Given the description of an element on the screen output the (x, y) to click on. 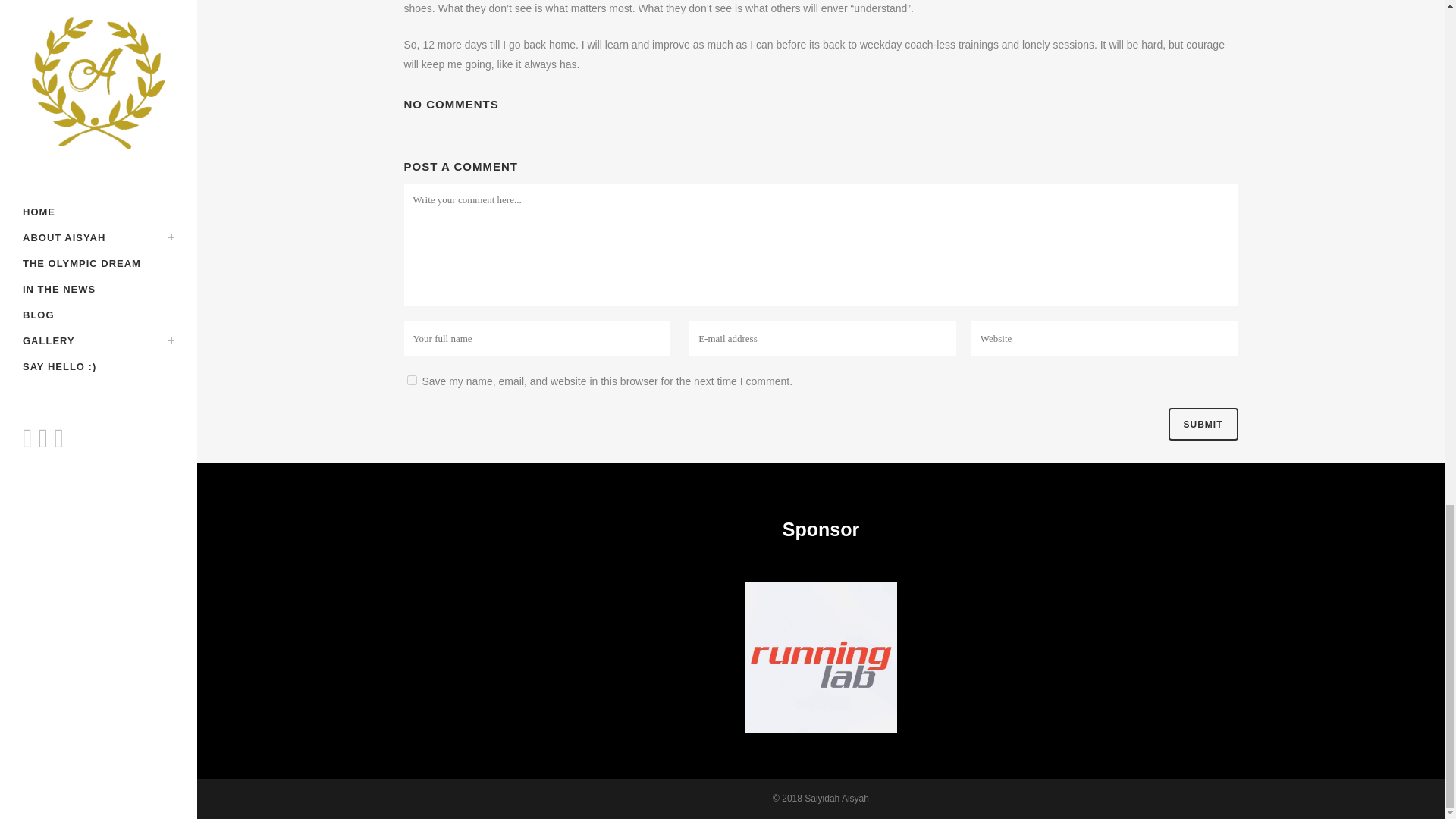
Submit (1202, 423)
yes (411, 379)
Submit (1202, 423)
